Given the description of an element on the screen output the (x, y) to click on. 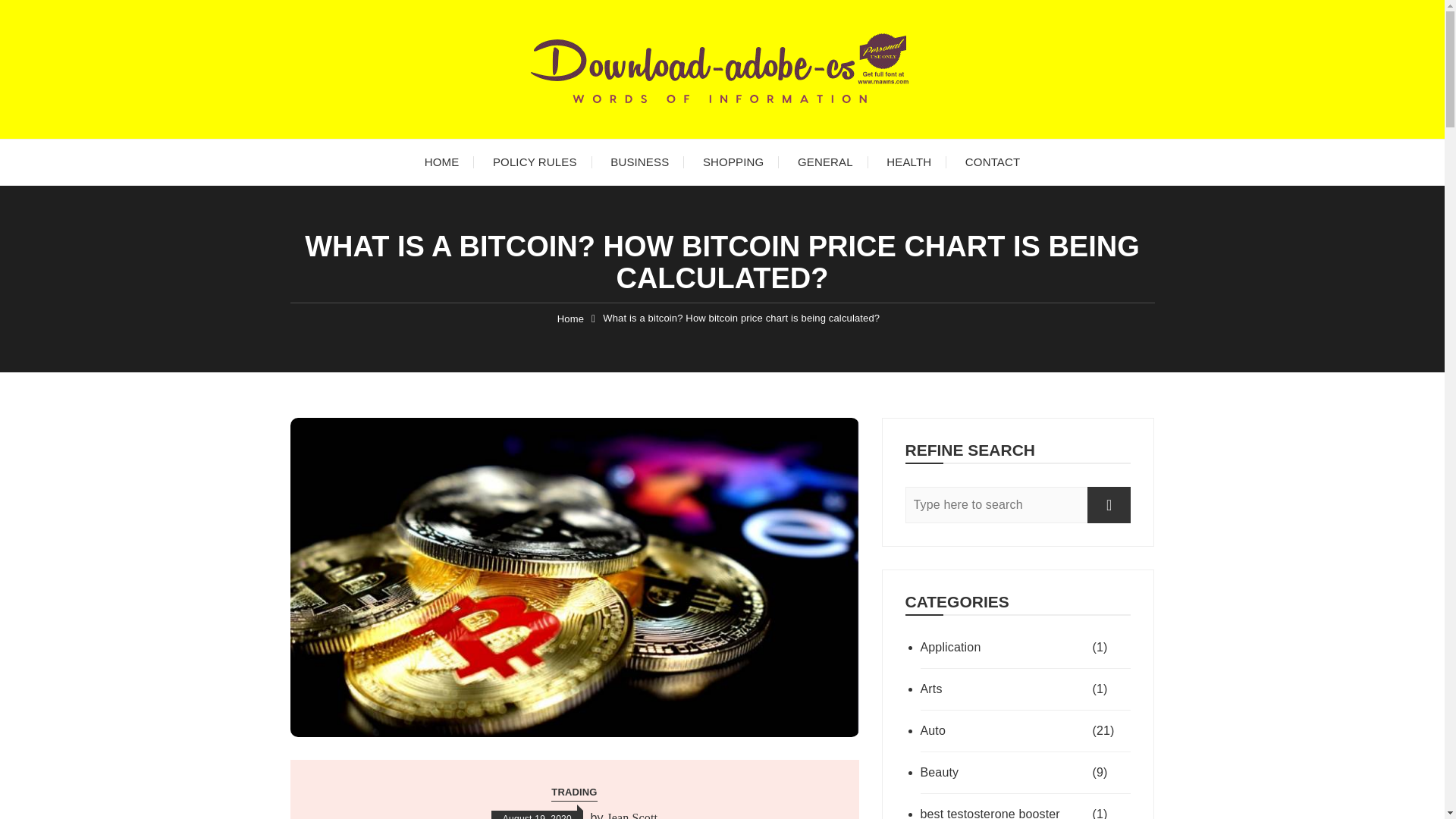
POLICY RULES (534, 162)
best testosterone booster (1004, 812)
Arts (1004, 689)
August 19, 2020 (537, 814)
Auto (1004, 730)
Application (1004, 647)
Beauty (1004, 772)
CONTACT (992, 162)
SHOPPING (732, 162)
Home (570, 319)
HOME (441, 162)
HEALTH (908, 162)
Jean Scott (632, 814)
GENERAL (825, 162)
